Given the description of an element on the screen output the (x, y) to click on. 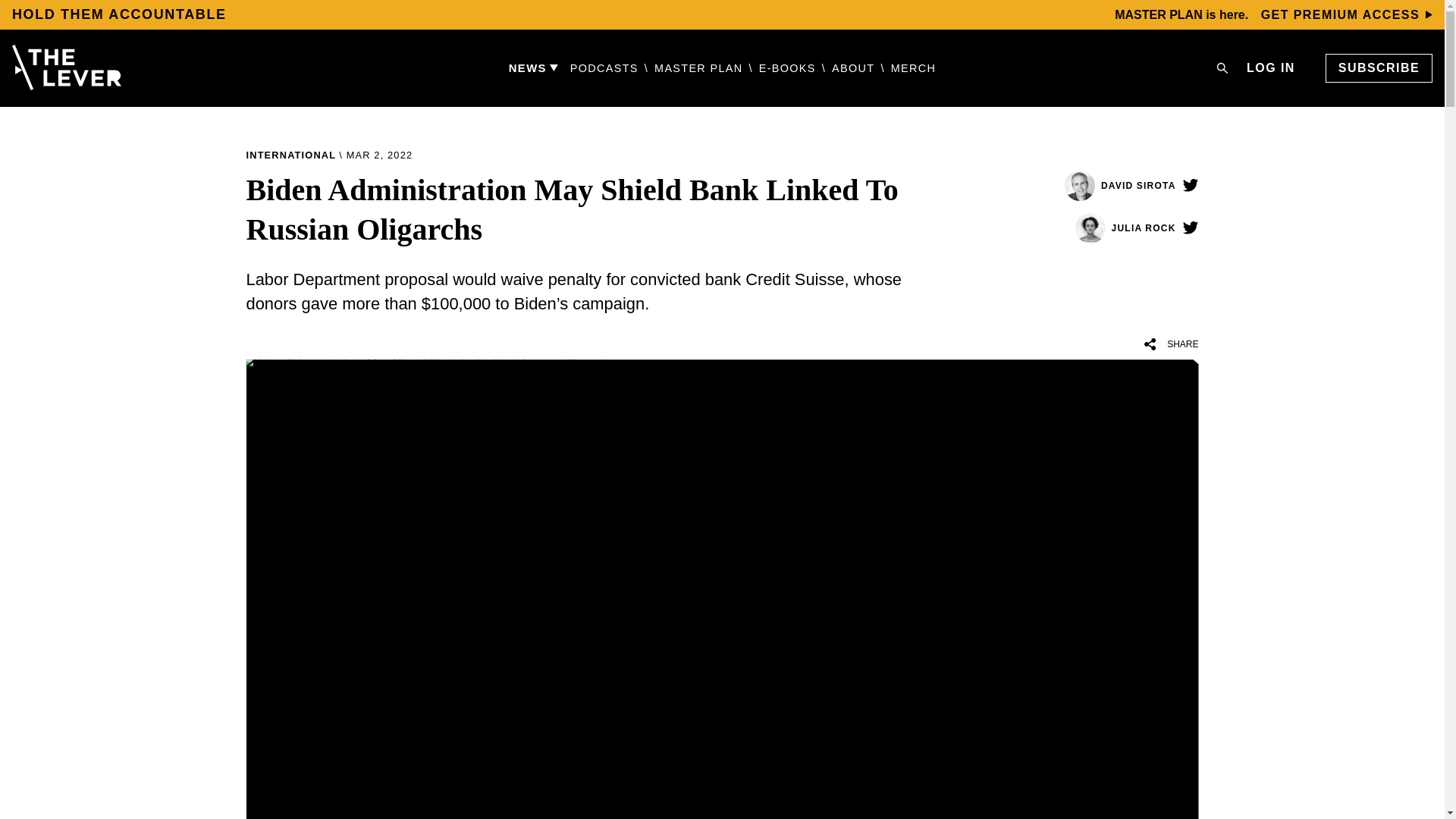
PODCASTS (604, 68)
INTERNATIONAL (291, 154)
E-BOOKS (786, 68)
LOG IN (1270, 67)
ABOUT (853, 68)
Twitter (1189, 227)
Search (1221, 68)
MERCH (913, 68)
MASTER PLAN (697, 68)
SUBSCRIBE (1378, 68)
